Given the description of an element on the screen output the (x, y) to click on. 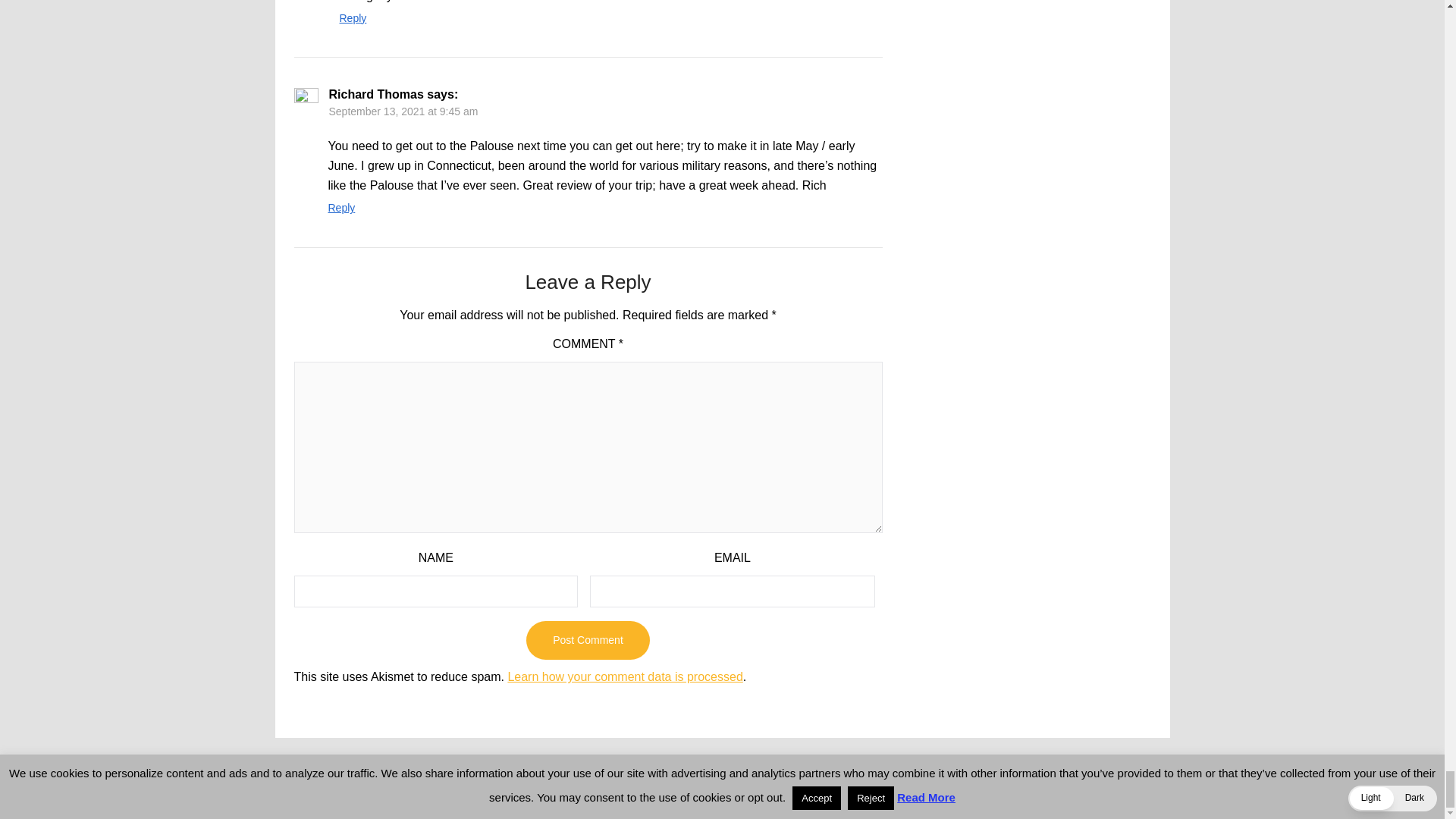
September 13, 2021 at 9:45 am (404, 111)
Post Comment (587, 640)
Reply (352, 18)
